Given the description of an element on the screen output the (x, y) to click on. 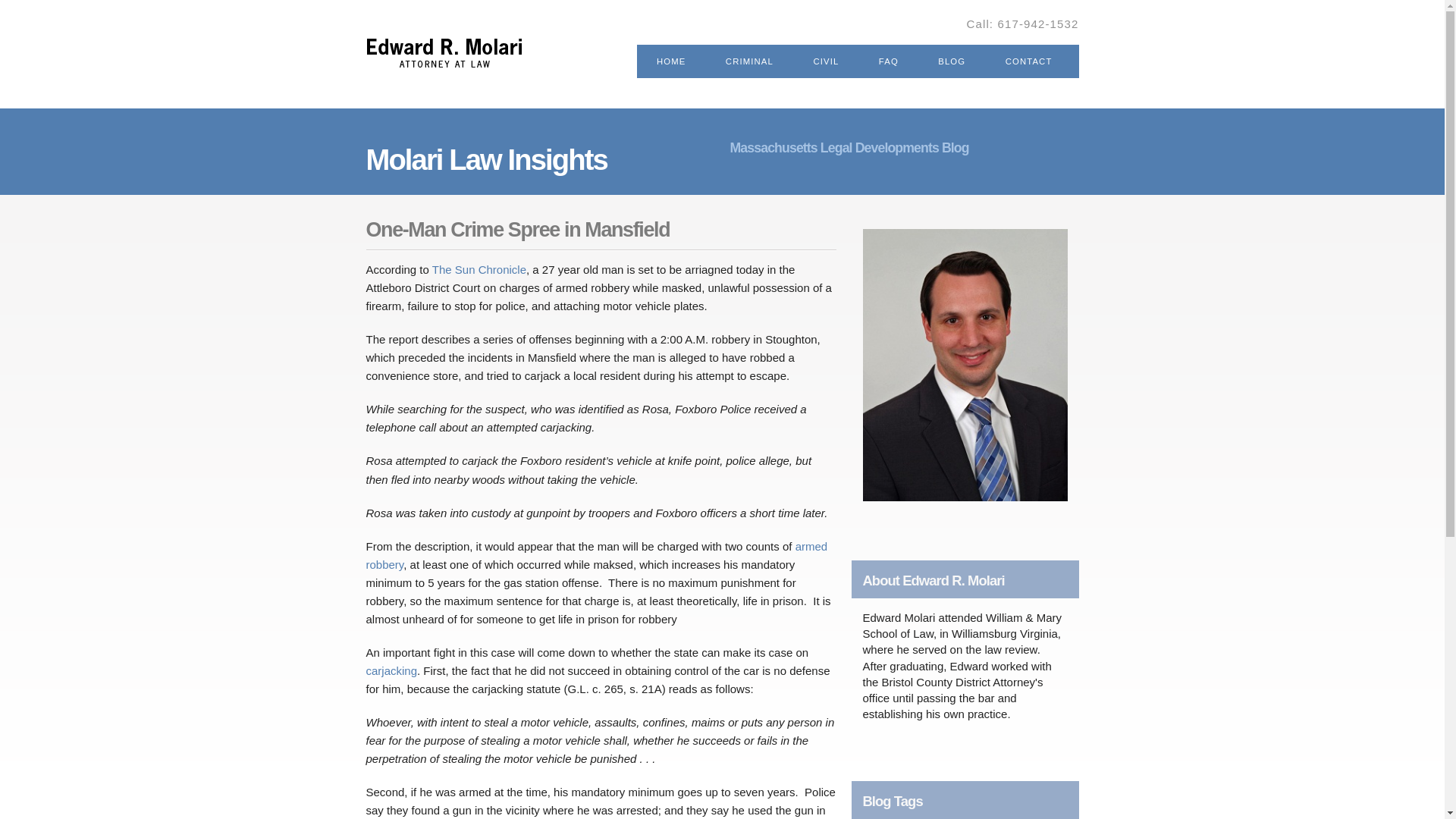
CONTACT (1029, 61)
Edward R. Molari, Attorney at Law (562, 28)
HOME (670, 61)
Molari Law Insights (486, 159)
CIVIL (825, 61)
BLOG (951, 61)
Skip to main content (690, 1)
carjacking (390, 670)
armed robbery (596, 554)
CRIMINAL (749, 61)
